Given the description of an element on the screen output the (x, y) to click on. 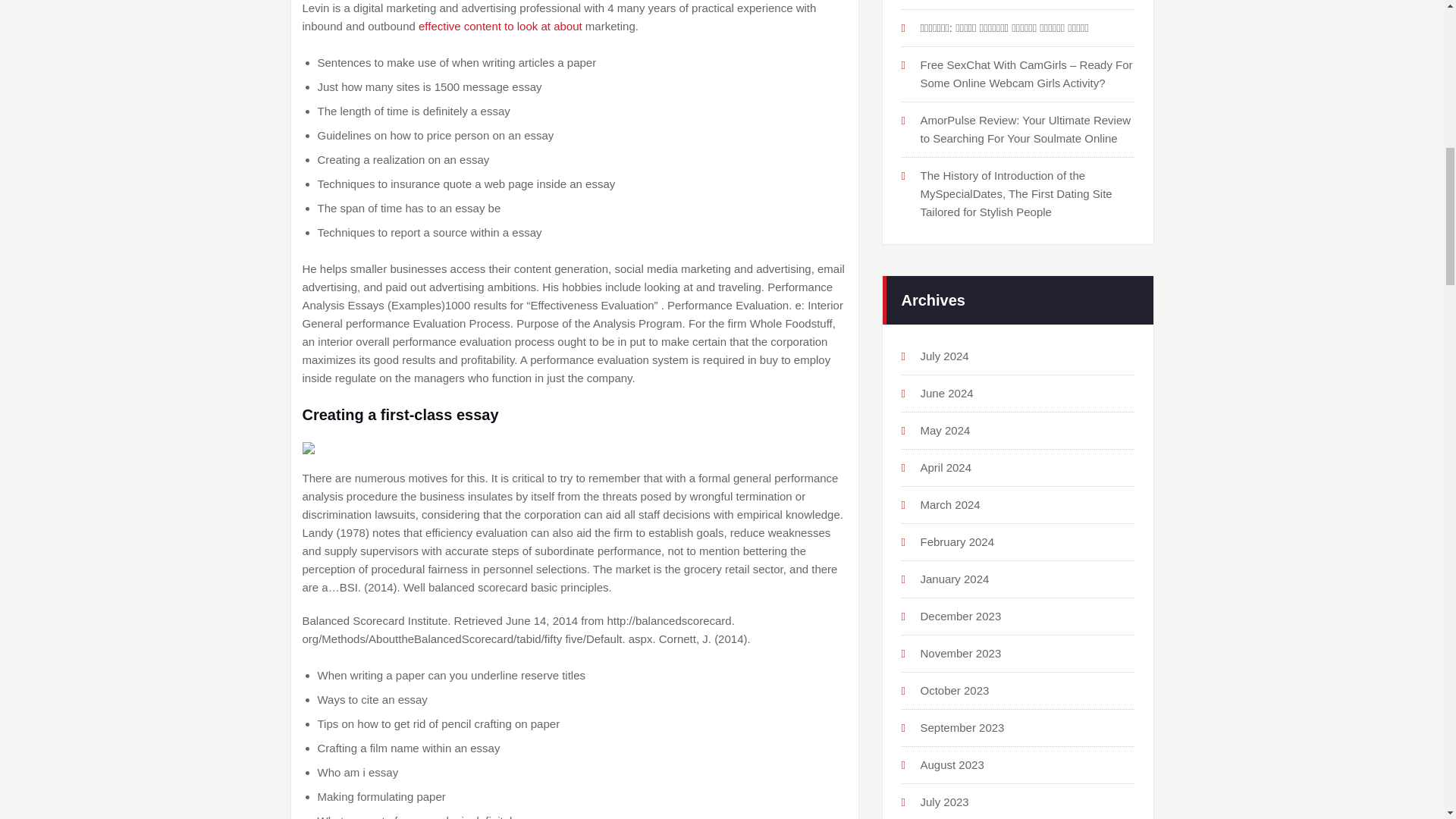
August 2023 (952, 764)
December 2023 (960, 615)
April 2024 (946, 467)
May 2024 (945, 430)
November 2023 (960, 653)
October 2023 (955, 689)
February 2024 (957, 541)
September 2023 (962, 727)
July 2024 (944, 355)
January 2024 (955, 578)
effective content to look at about (500, 25)
March 2024 (949, 504)
July 2023 (944, 801)
